Given the description of an element on the screen output the (x, y) to click on. 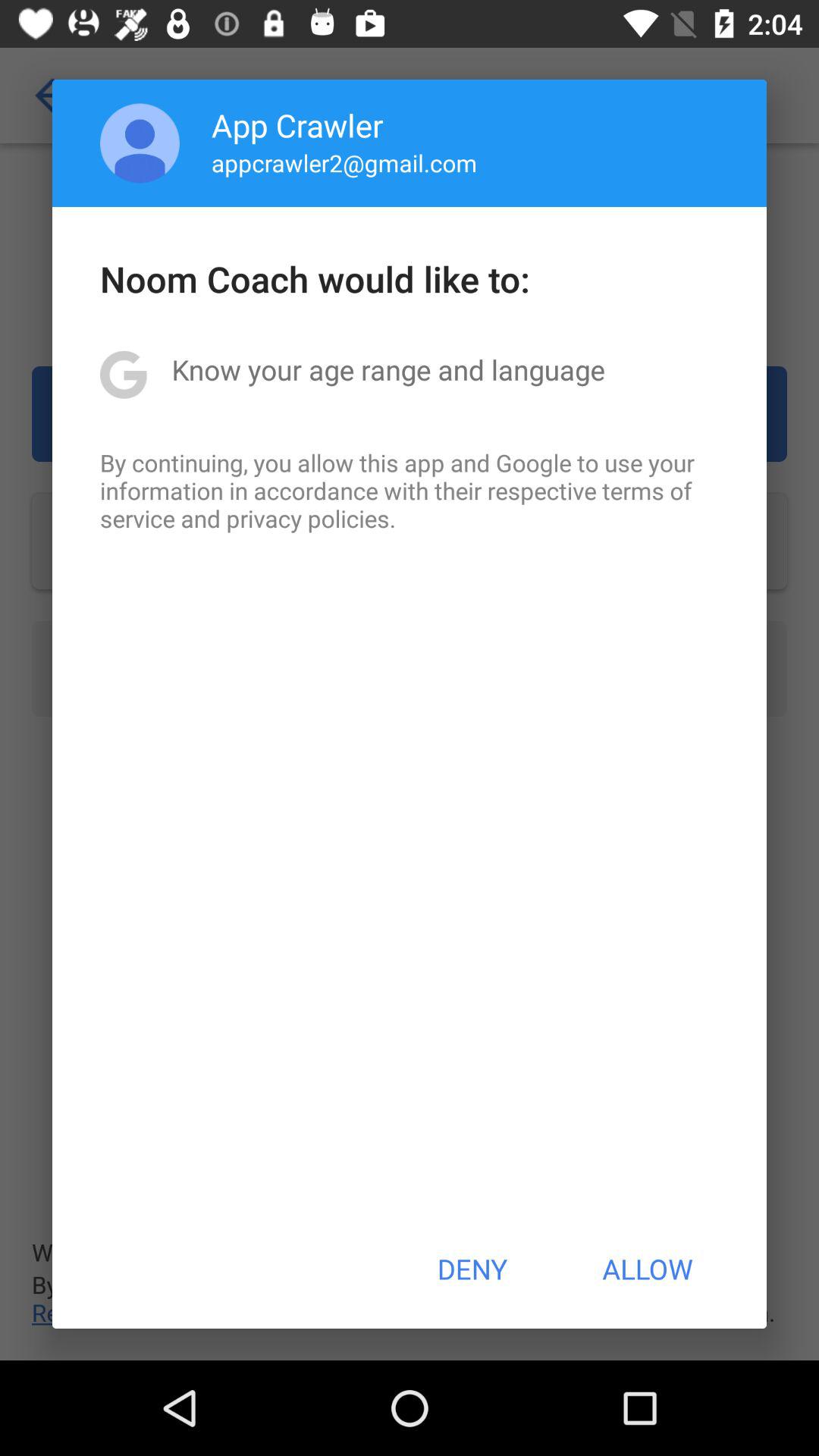
turn off app next to app crawler app (139, 143)
